Given the description of an element on the screen output the (x, y) to click on. 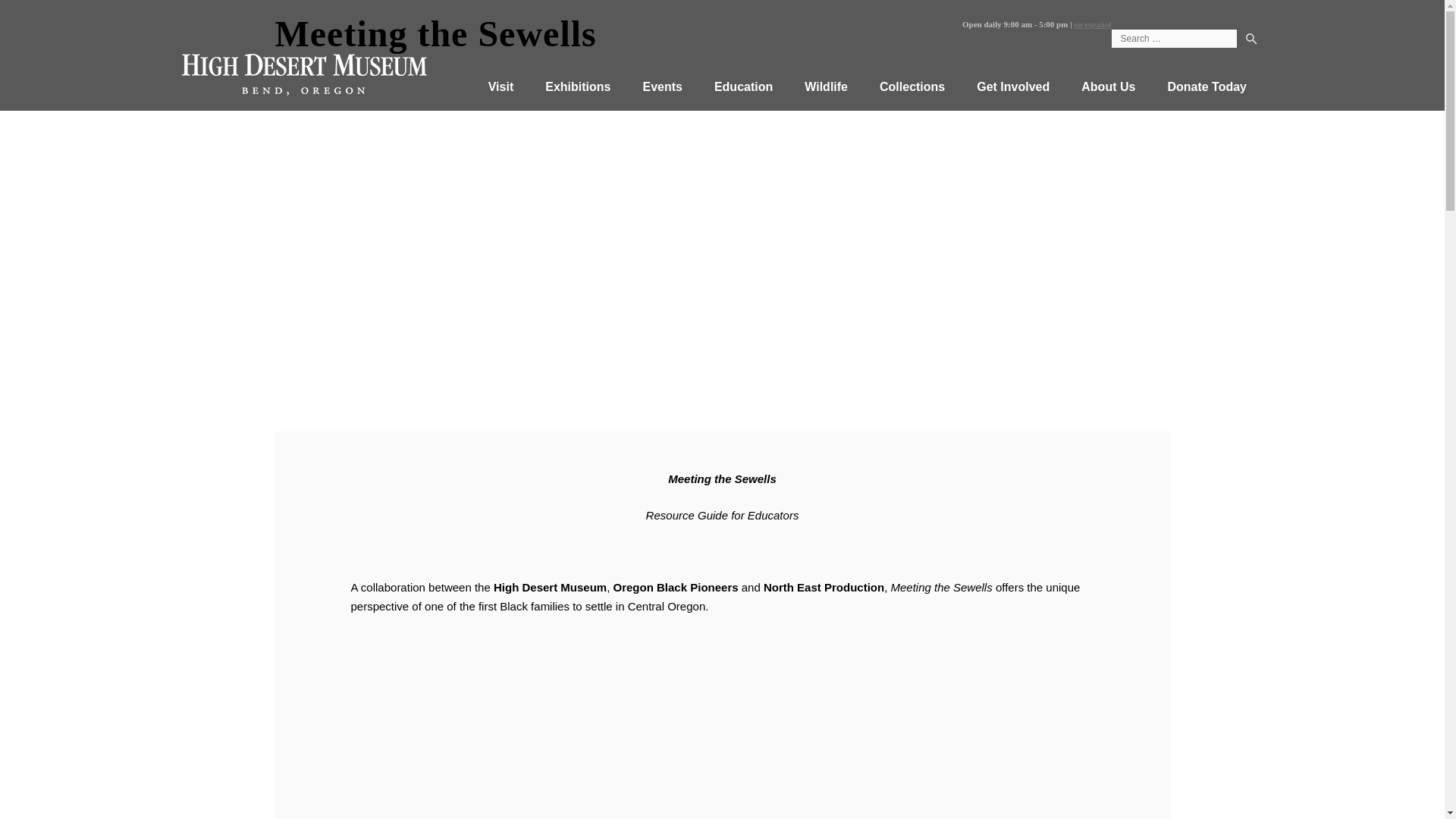
Exhibitions (577, 87)
Search (1251, 41)
Search (1251, 41)
Education (743, 87)
Search (1251, 41)
Events (661, 87)
Wildlife (826, 87)
Visit (500, 87)
